Given the description of an element on the screen output the (x, y) to click on. 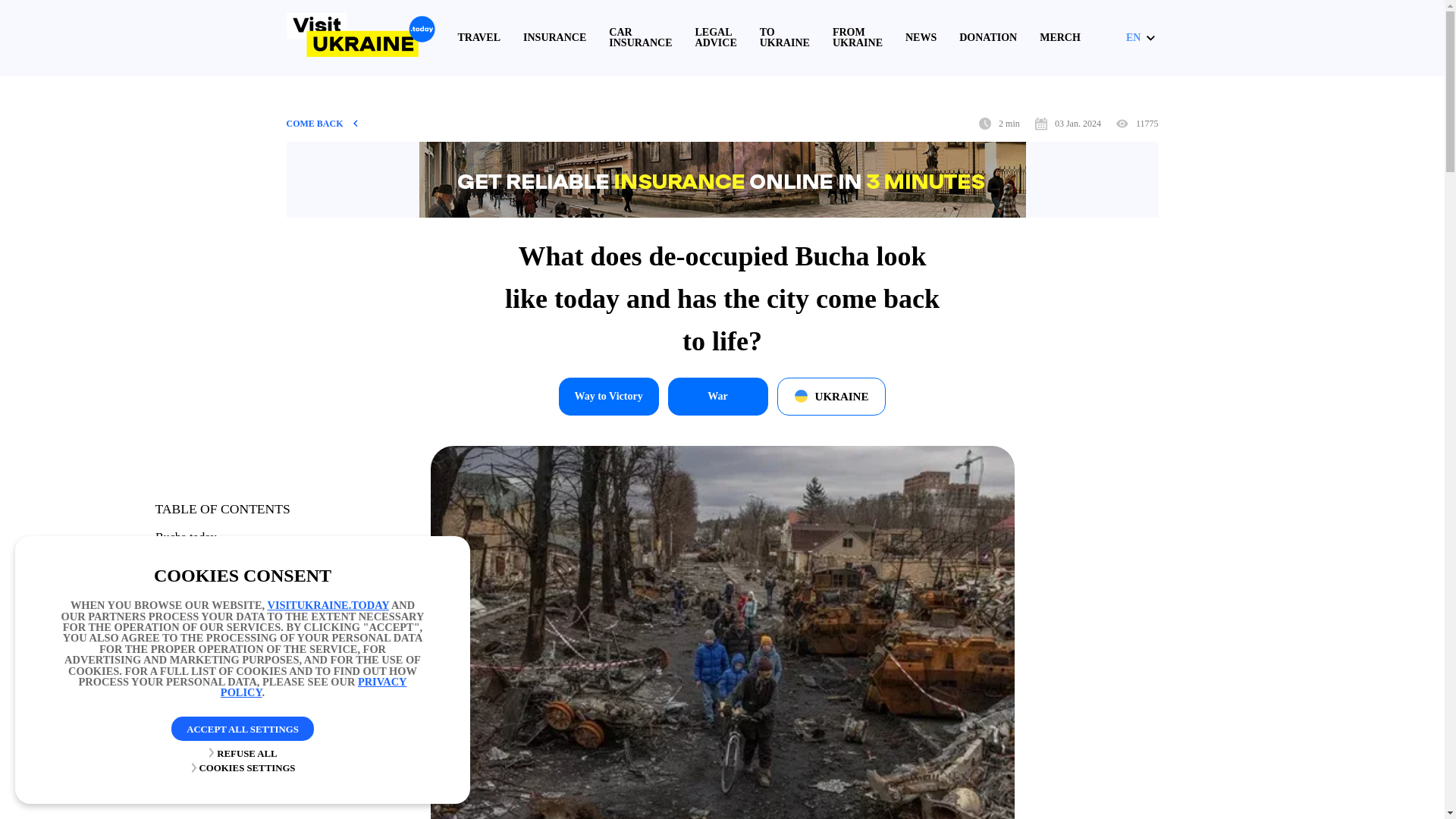
CAR INSURANCE (639, 37)
VISITUKRAINE.TODAY (328, 604)
INSURANCE (554, 37)
PRIVACY POLICY (314, 686)
ACCEPT ALL SETTINGS (242, 728)
LEGAL ADVICE (715, 37)
TRAVEL (479, 37)
